Given the description of an element on the screen output the (x, y) to click on. 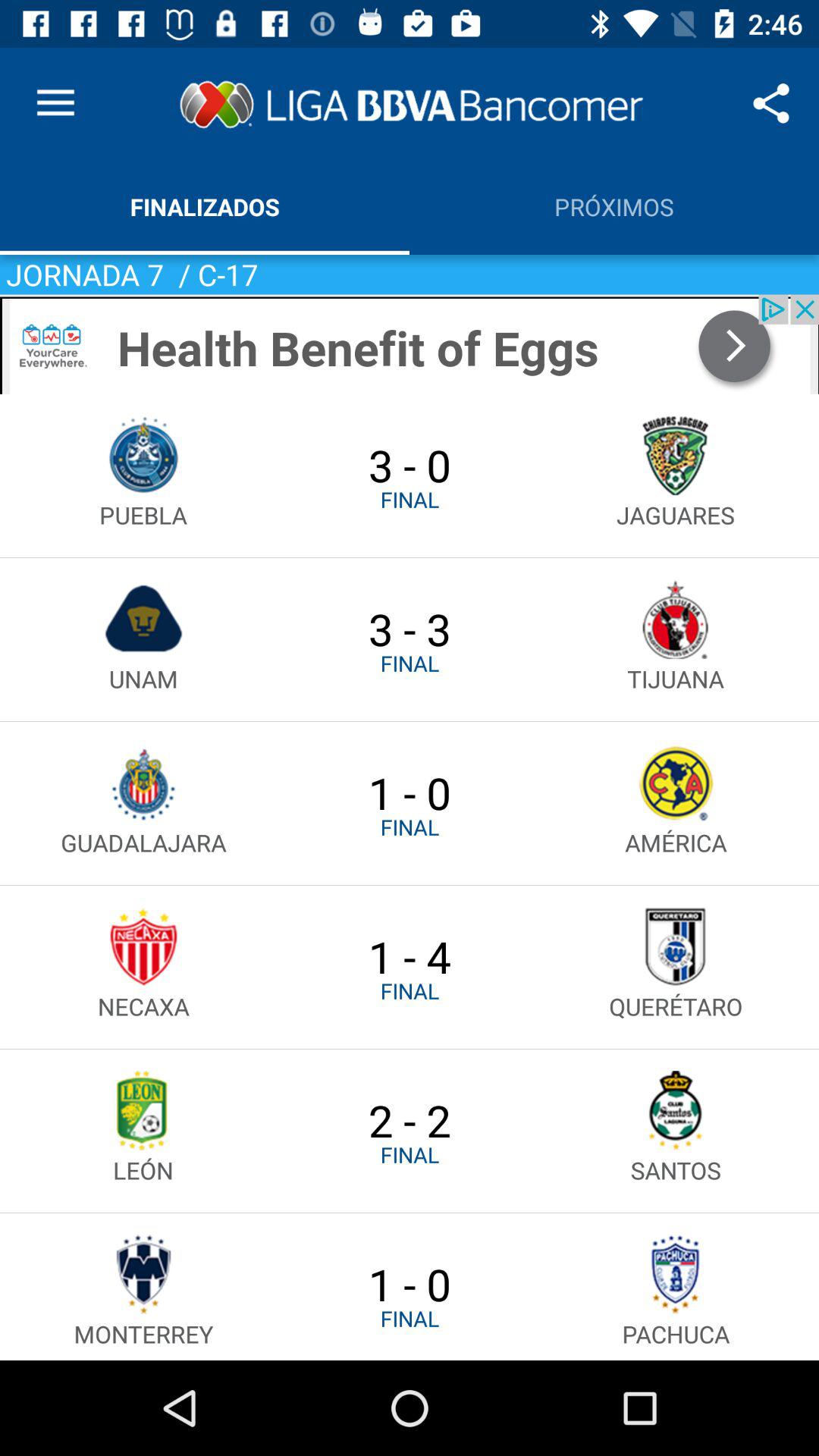
click to visit the advertiser page (409, 344)
